Given the description of an element on the screen output the (x, y) to click on. 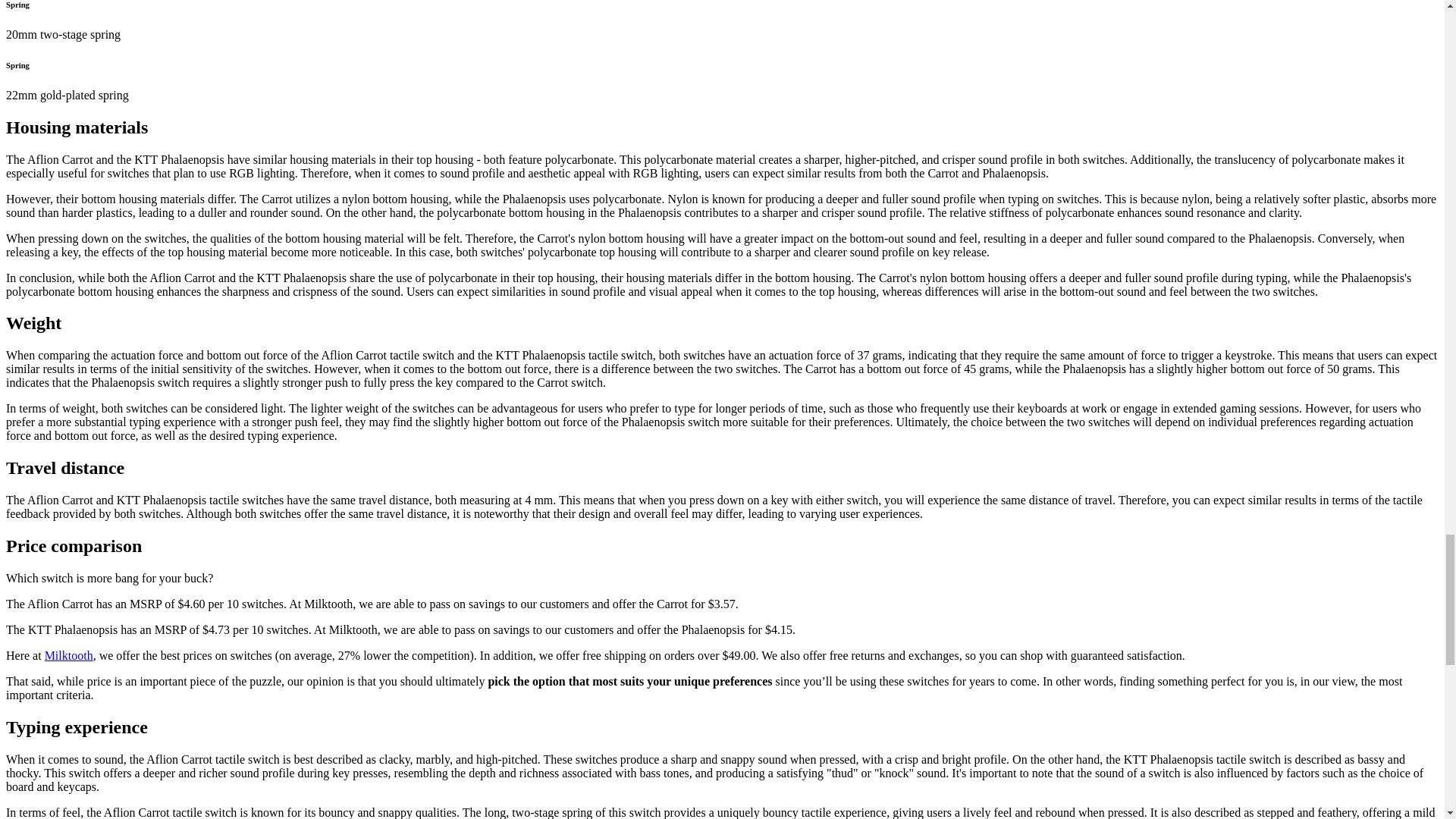
Milktooth (69, 655)
